Given the description of an element on the screen output the (x, y) to click on. 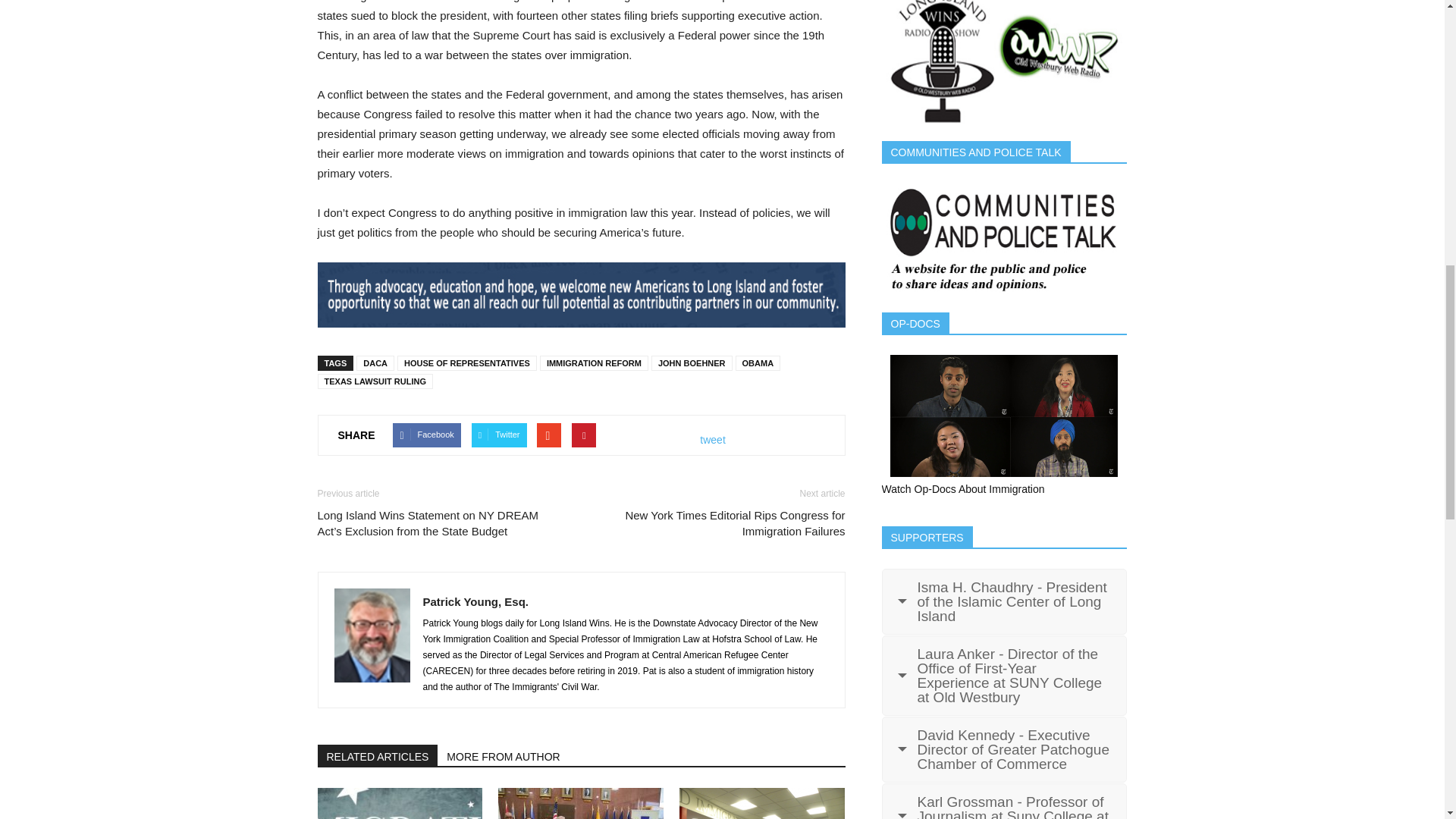
Immigration 101: Revisit Our Most Popular Resource (399, 803)
